Given the description of an element on the screen output the (x, y) to click on. 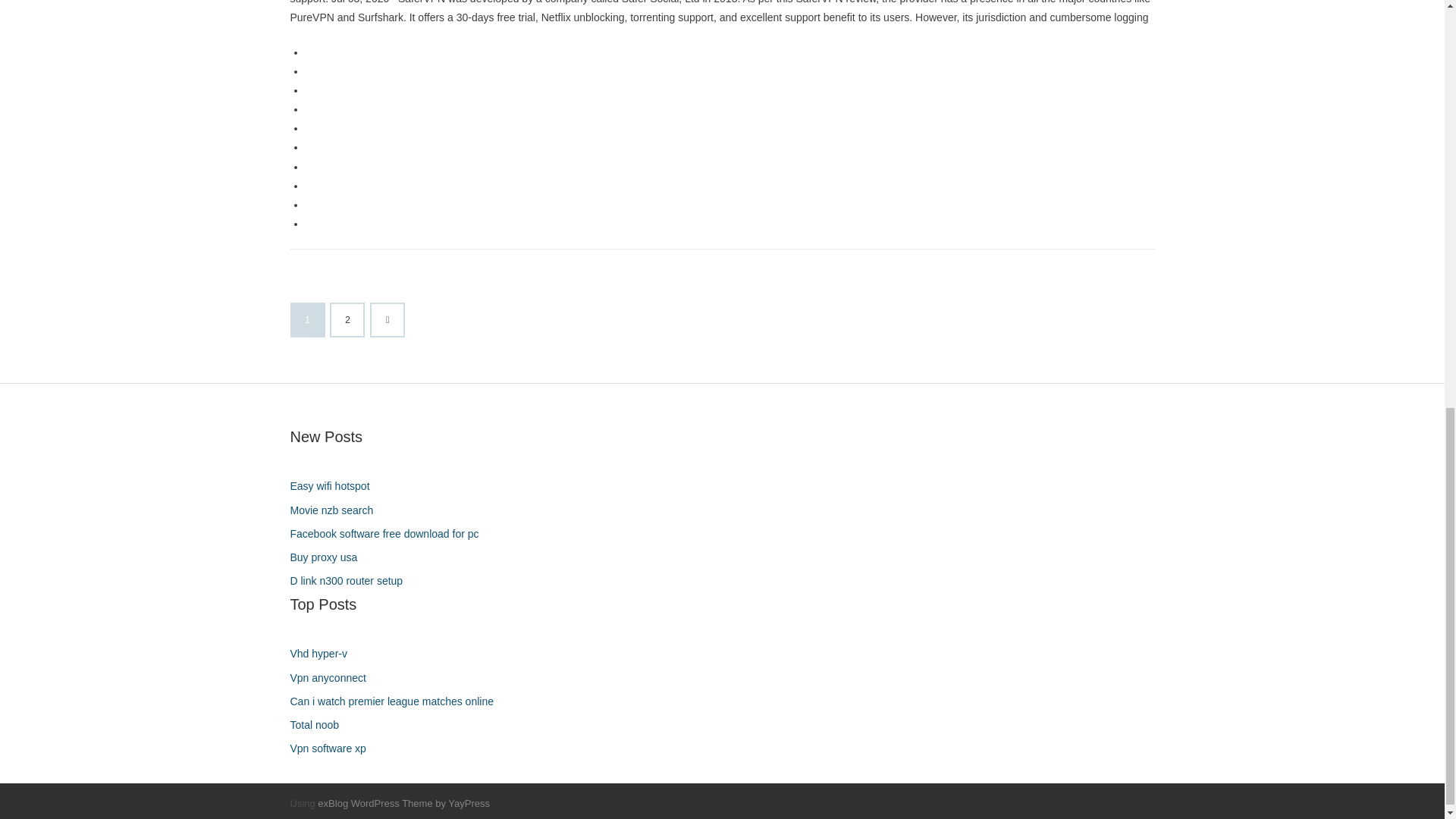
Total noob (319, 724)
Vpn software xp (333, 748)
Buy proxy usa (328, 557)
Movie nzb search (336, 510)
Vhd hyper-v (323, 653)
2 (346, 319)
Easy wifi hotspot (334, 485)
Facebook software free download for pc (389, 534)
Vpn anyconnect (333, 678)
Can i watch premier league matches online (396, 701)
